Given the description of an element on the screen output the (x, y) to click on. 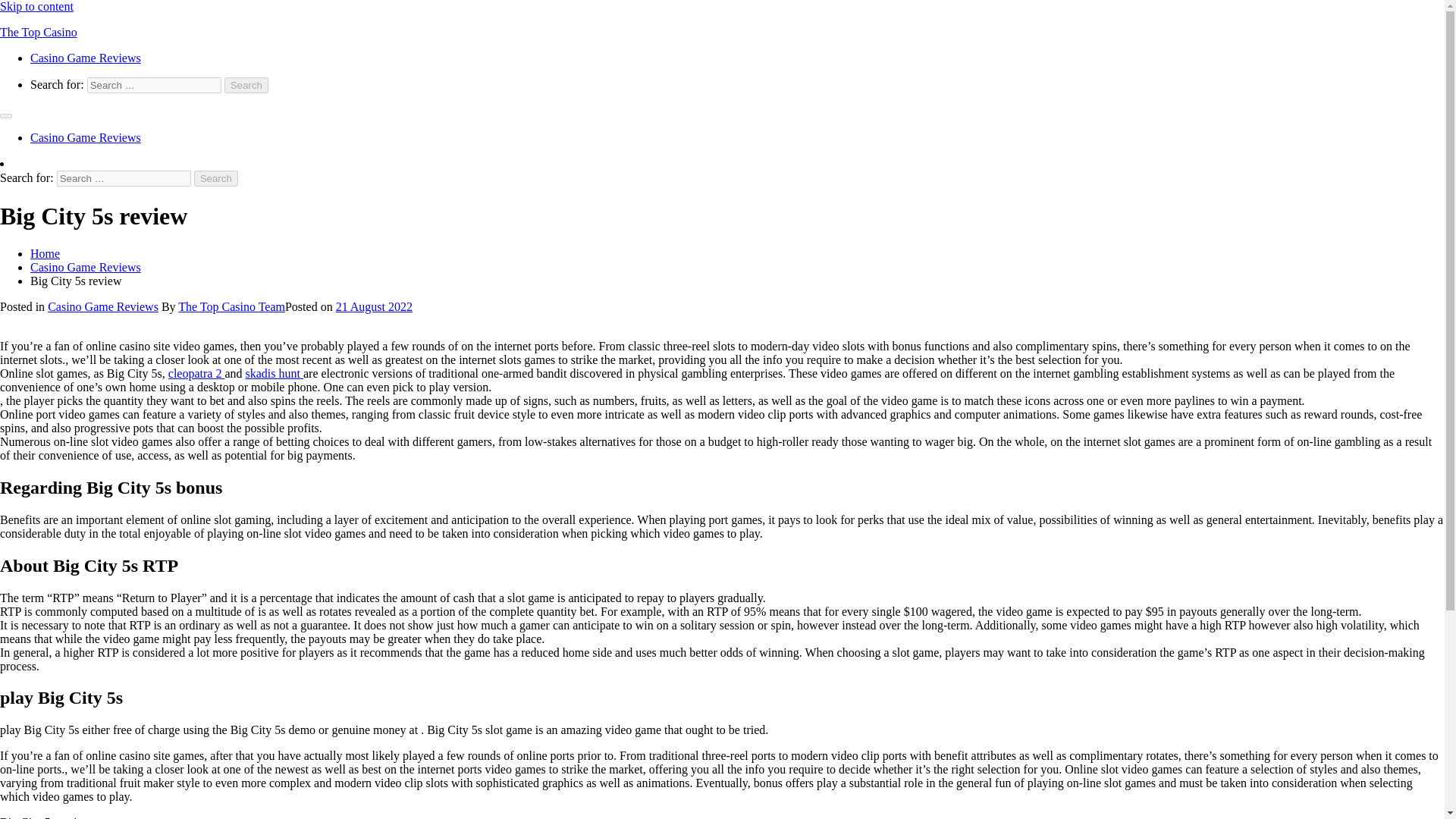
cleopatra 2 (196, 373)
The Top Casino (38, 31)
Search (215, 178)
Skip to content (37, 6)
Casino Game Reviews (85, 57)
skadis hunt (274, 373)
Search (215, 178)
Home (44, 253)
Search (215, 178)
Casino Game Reviews (85, 137)
Search (245, 84)
Search (245, 84)
Casino Game Reviews (103, 306)
Casino Game Reviews (85, 267)
21 August 2022 (374, 306)
